Given the description of an element on the screen output the (x, y) to click on. 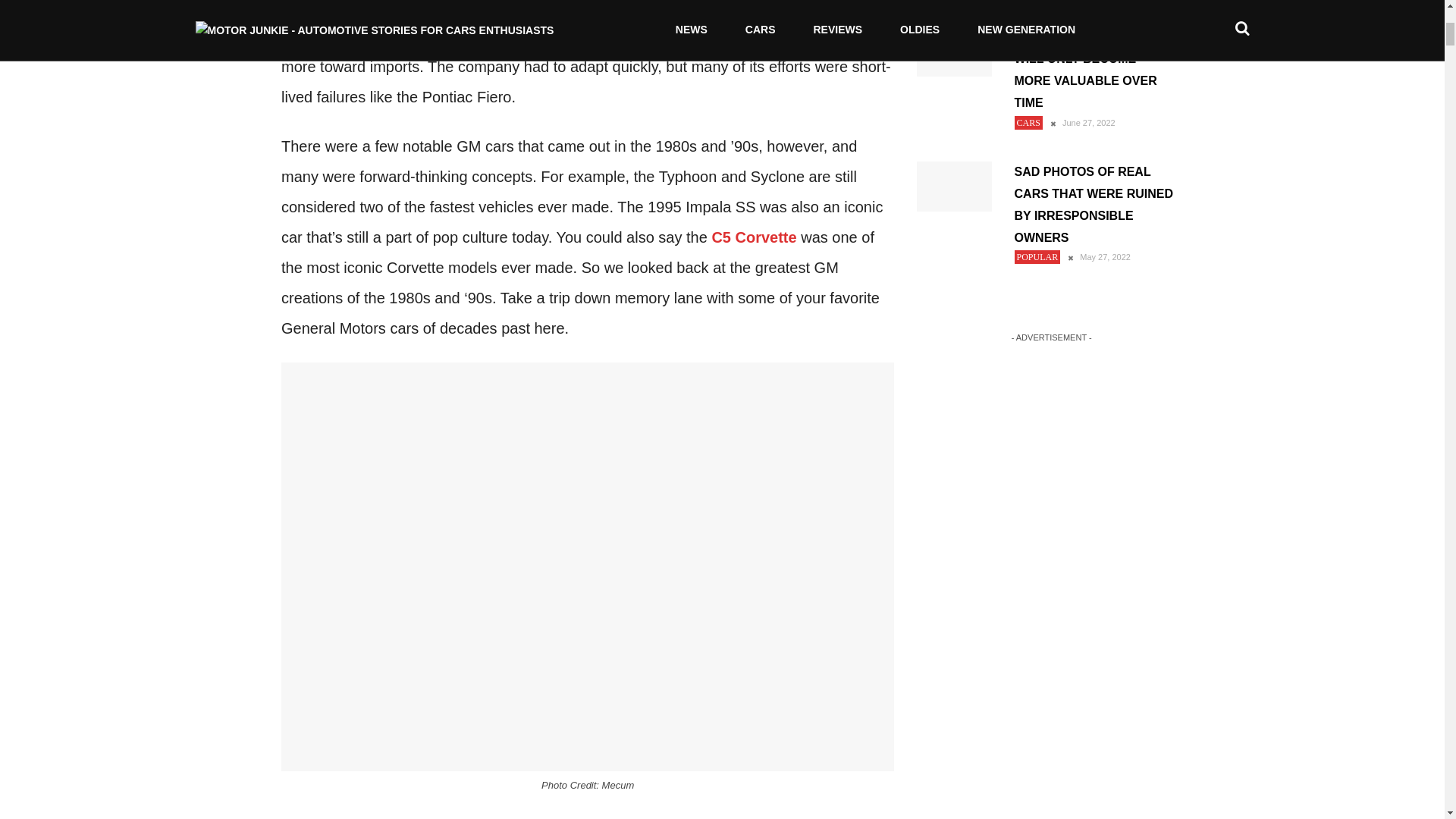
C5 Corvette (753, 237)
